Given the description of an element on the screen output the (x, y) to click on. 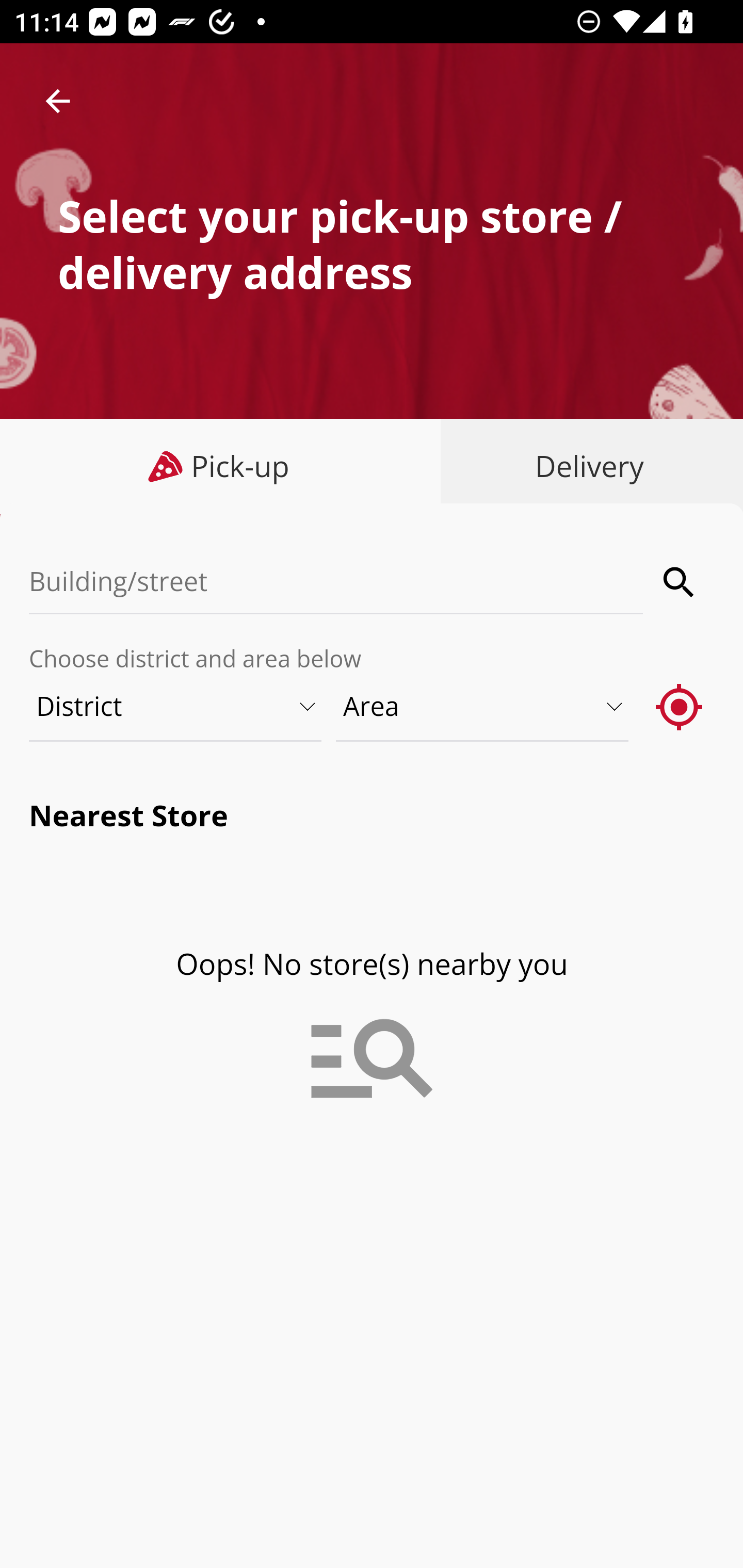
arrow_back (58, 100)
Pick-up (221, 466)
Delivery (585, 466)
search (679, 582)
gps_fixed (679, 706)
District (175, 706)
Area (482, 706)
